Given the description of an element on the screen output the (x, y) to click on. 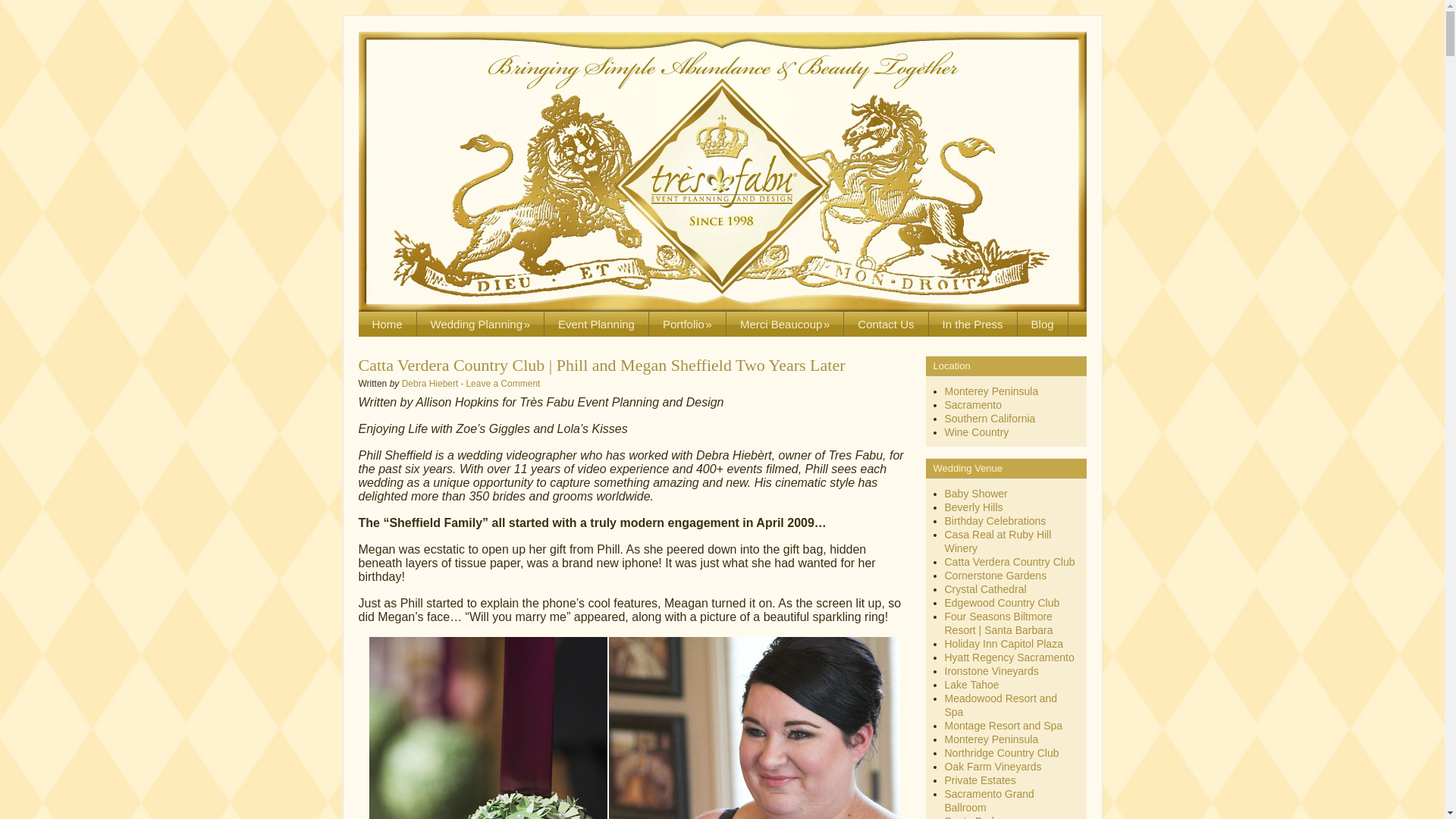
Contact Us (886, 324)
Blog (1042, 324)
Event Planning (596, 324)
Debra Hiebert (429, 383)
Home (387, 324)
Leave a Comment (502, 383)
In the Press (972, 324)
